Given the description of an element on the screen output the (x, y) to click on. 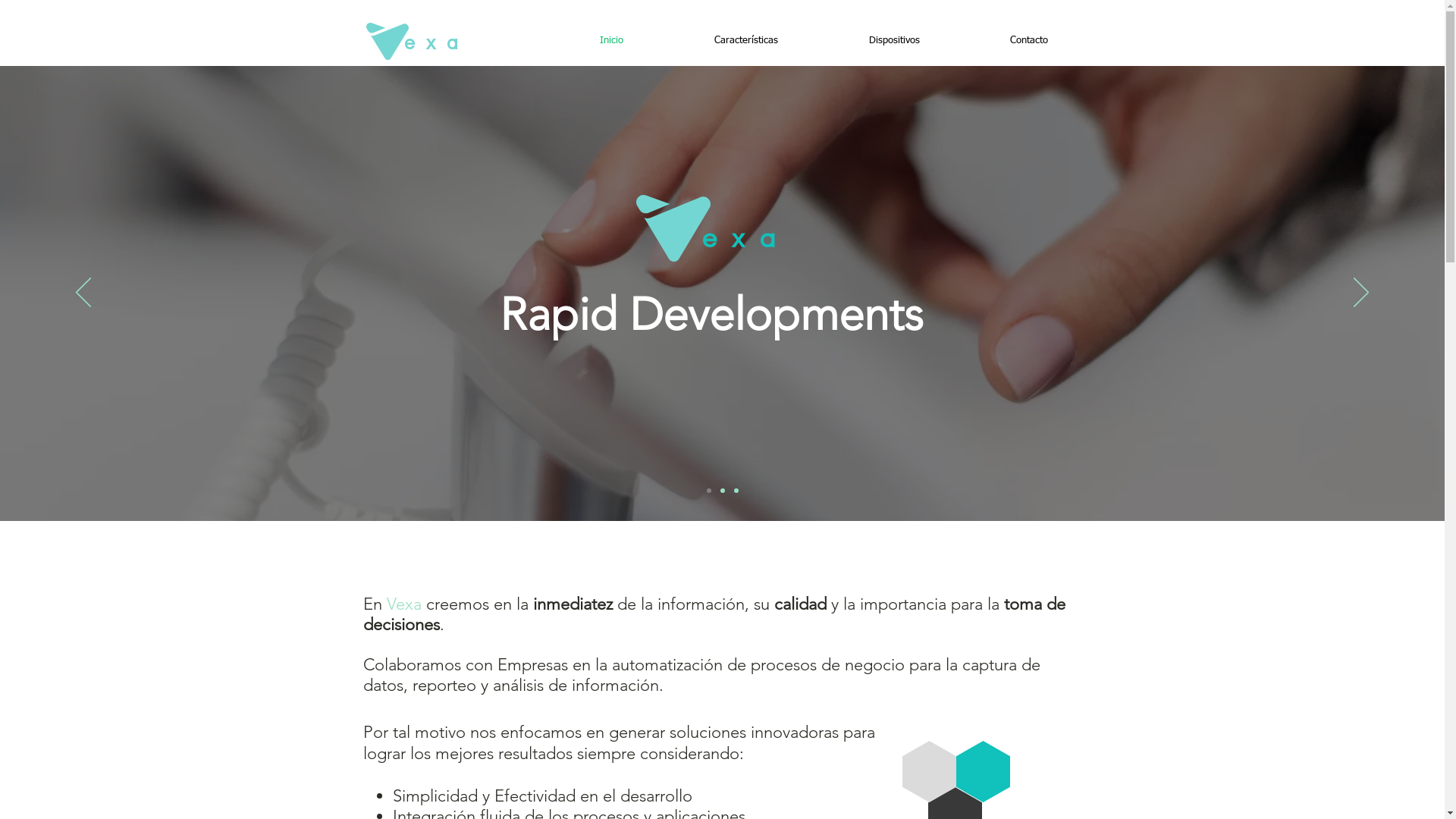
Contacto Element type: text (1028, 40)
Dispositivos Element type: text (894, 40)
Inicio Element type: text (610, 40)
